Given the description of an element on the screen output the (x, y) to click on. 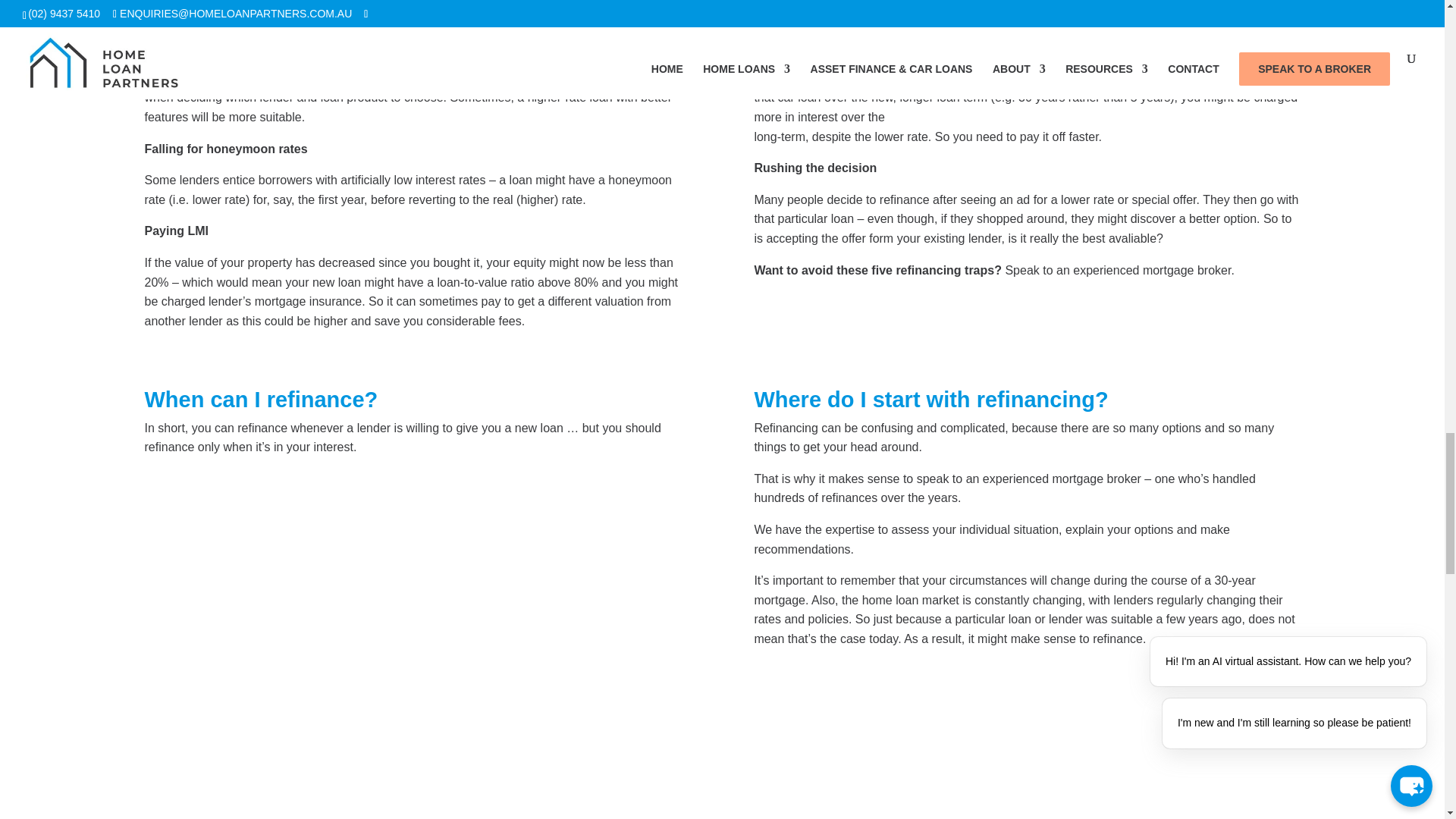
Page 9 (1027, 533)
refinance-content03 (346, 653)
